Given the description of an element on the screen output the (x, y) to click on. 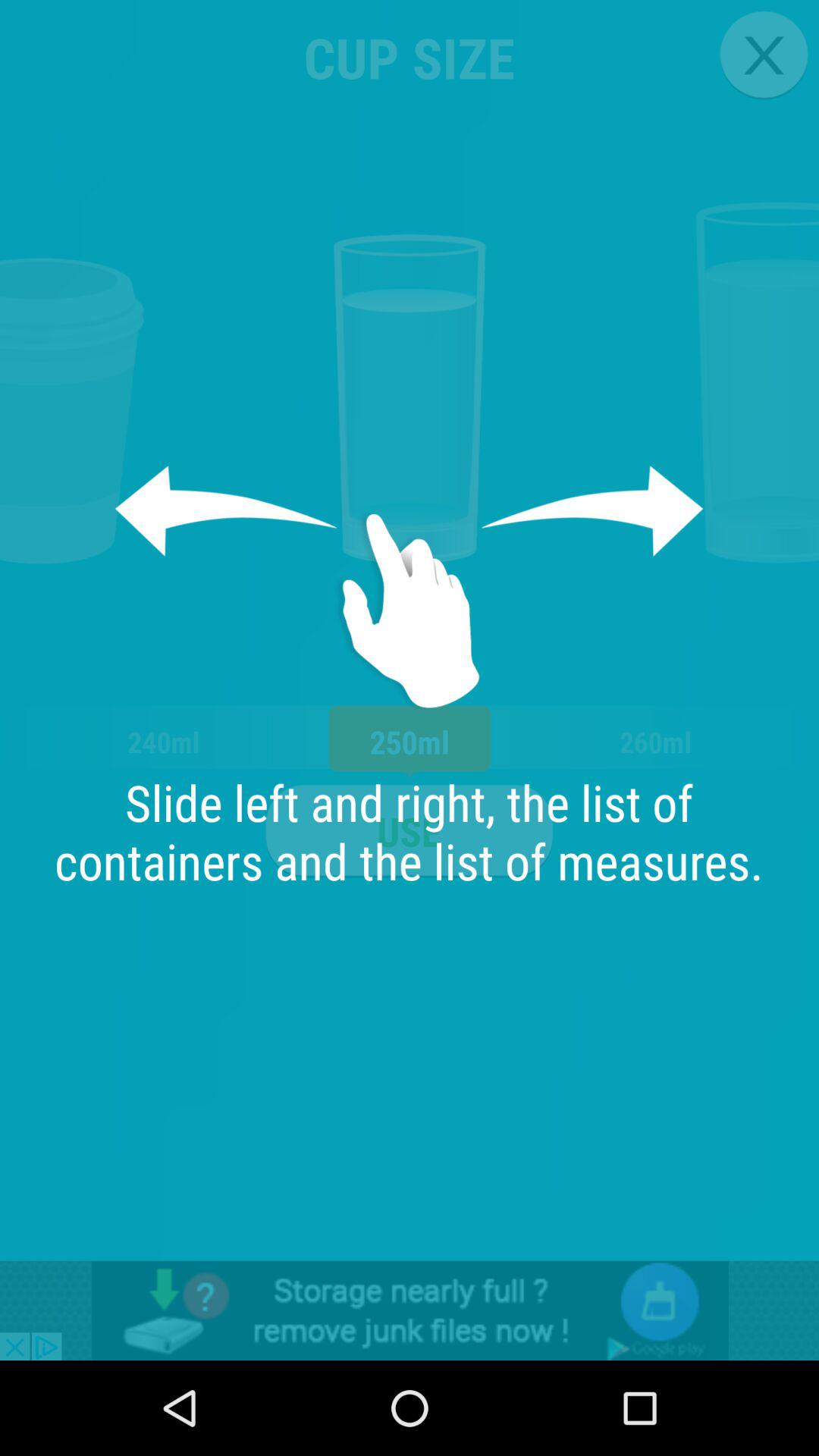
tap the app to the right of cup size item (763, 55)
